Given the description of an element on the screen output the (x, y) to click on. 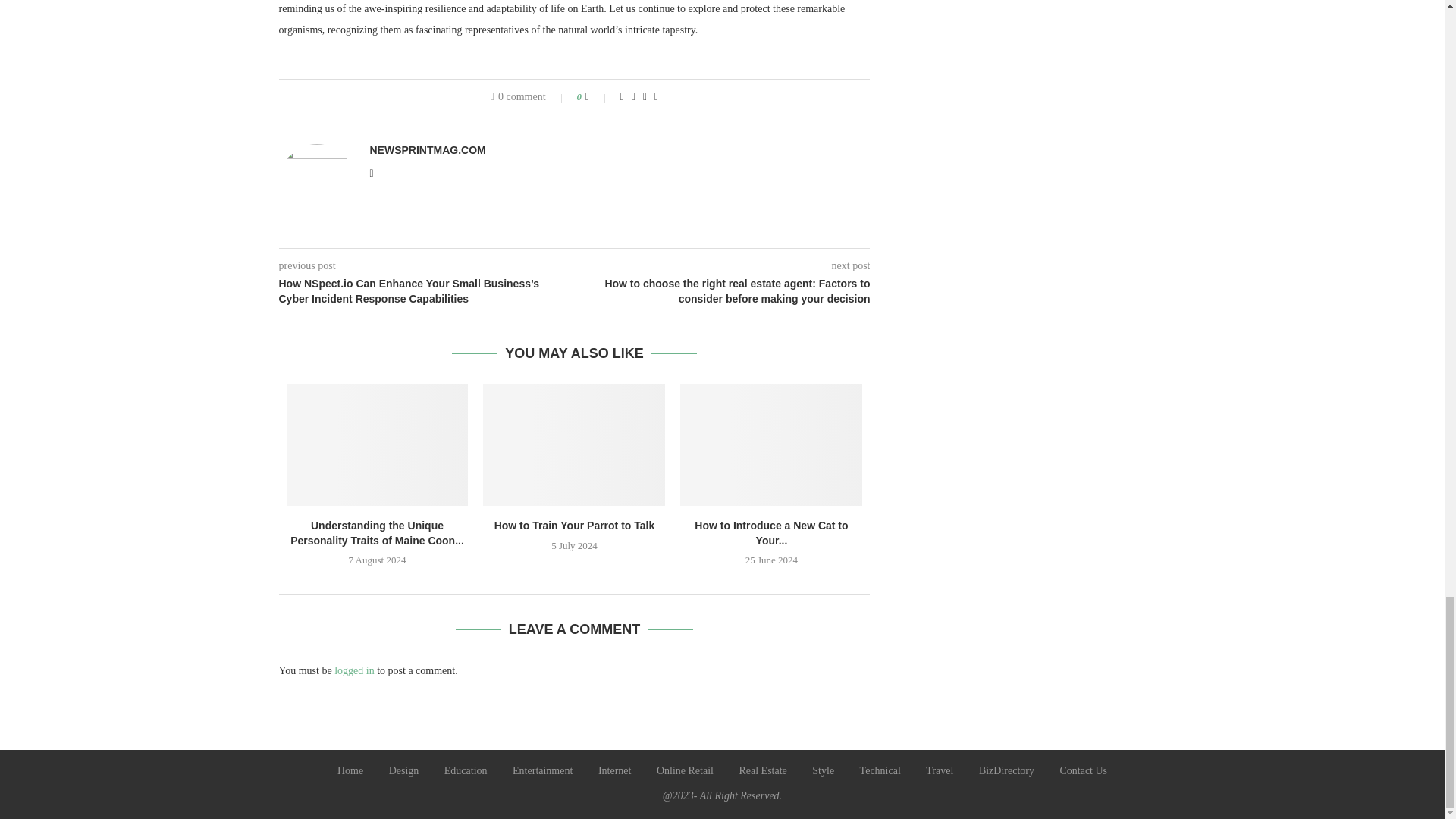
How to Train Your Parrot to Talk (574, 445)
Like (597, 96)
How to Introduce a New Cat to Your Existing Pets (770, 445)
Author newsprintmag.com (427, 150)
